Given the description of an element on the screen output the (x, y) to click on. 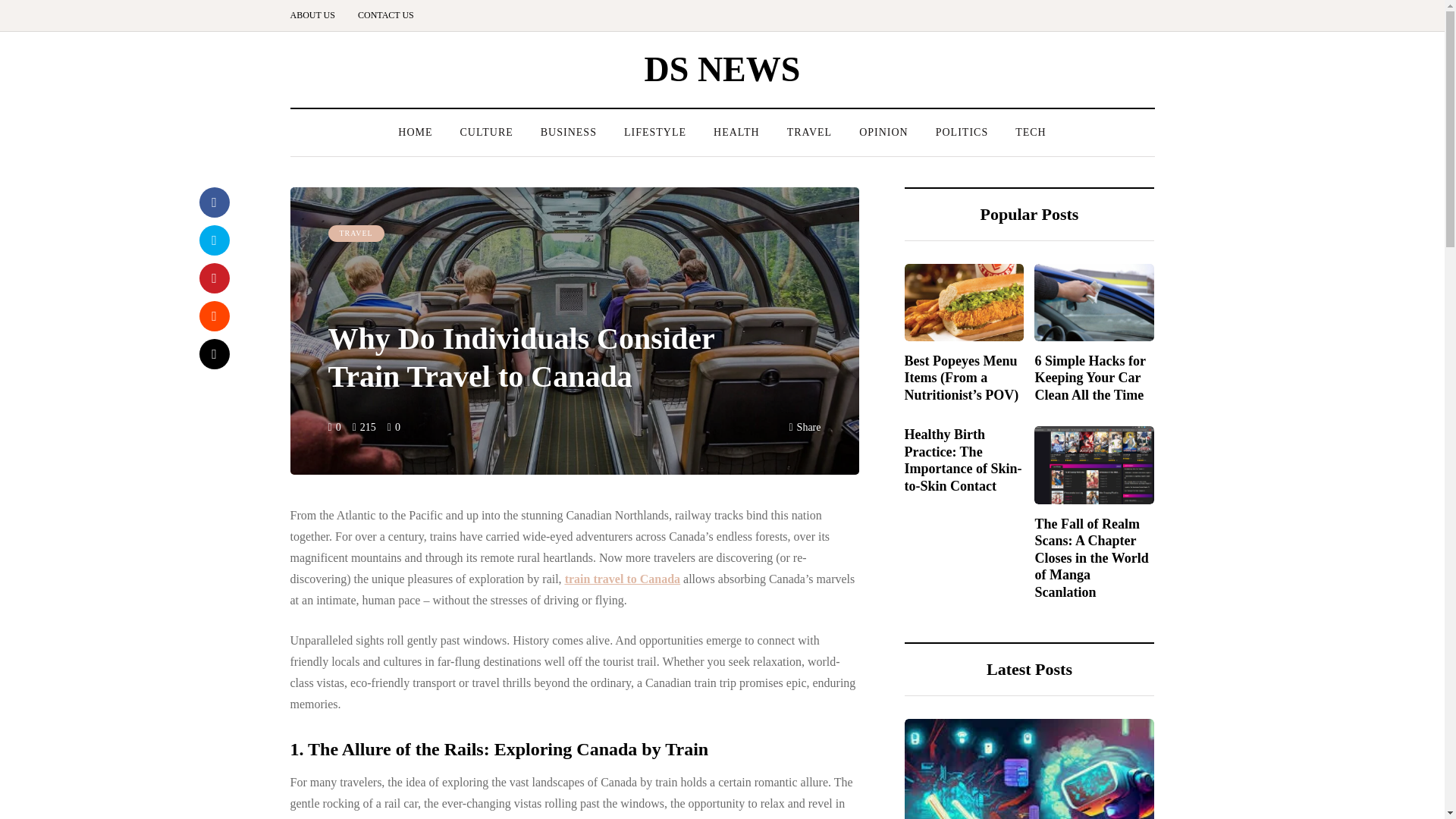
DS NEWS (722, 68)
HEALTH (736, 132)
CONTACT US (385, 15)
TECH (1030, 132)
ABOUT US (317, 15)
TRAVEL (355, 233)
TRAVEL (809, 132)
Share with Facebook (213, 202)
Pin this (213, 277)
Share by Email (213, 354)
Share on Reddit (213, 316)
train travel to Canada (621, 578)
CULTURE (485, 132)
BUSINESS (568, 132)
LIFESTYLE (655, 132)
